Given the description of an element on the screen output the (x, y) to click on. 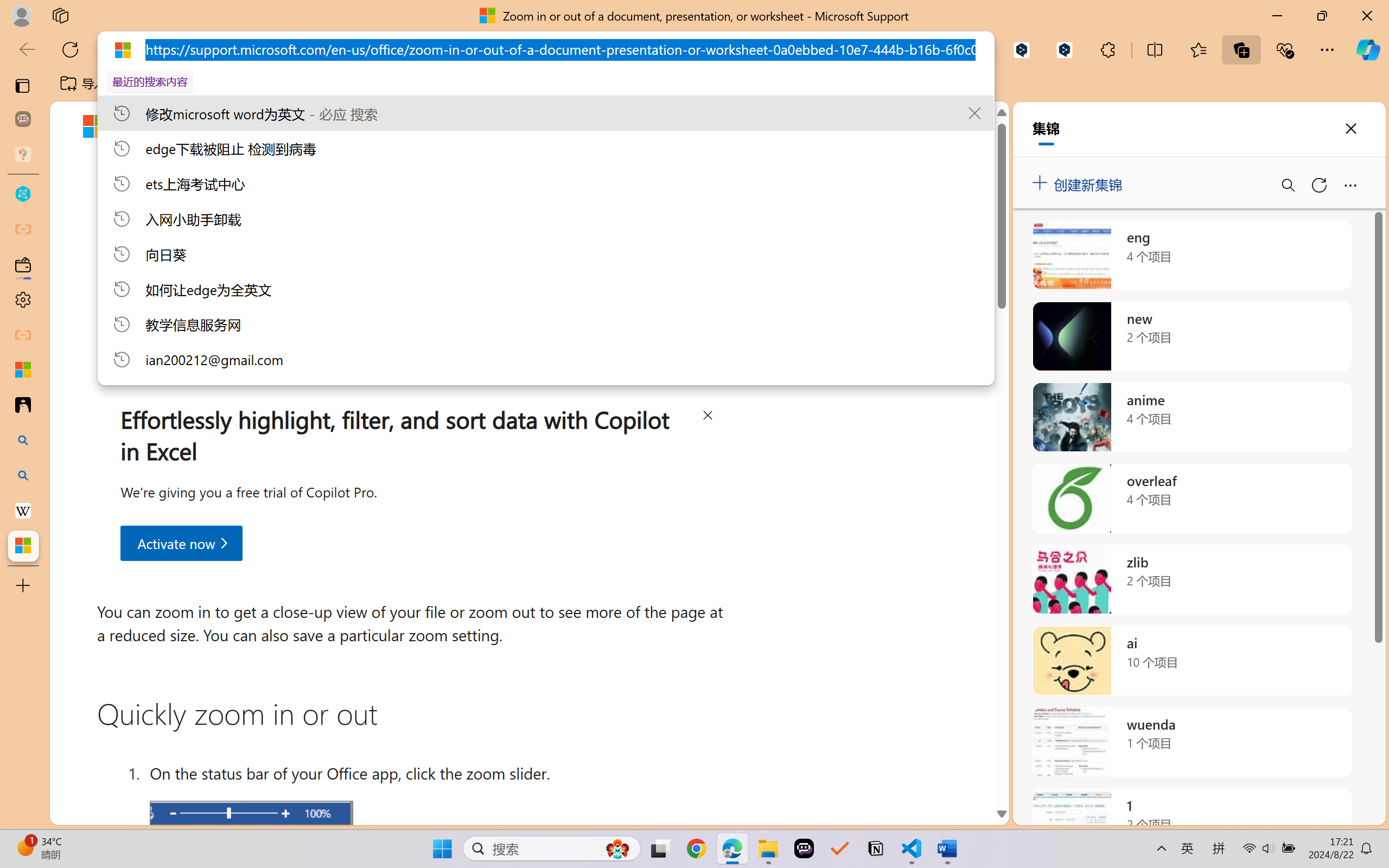
Microsoft (139, 128)
Adjust indents and spacing - Microsoft Support (22, 369)
Zoom slider (250, 814)
Buy Microsoft 365 (674, 126)
